Given the description of an element on the screen output the (x, y) to click on. 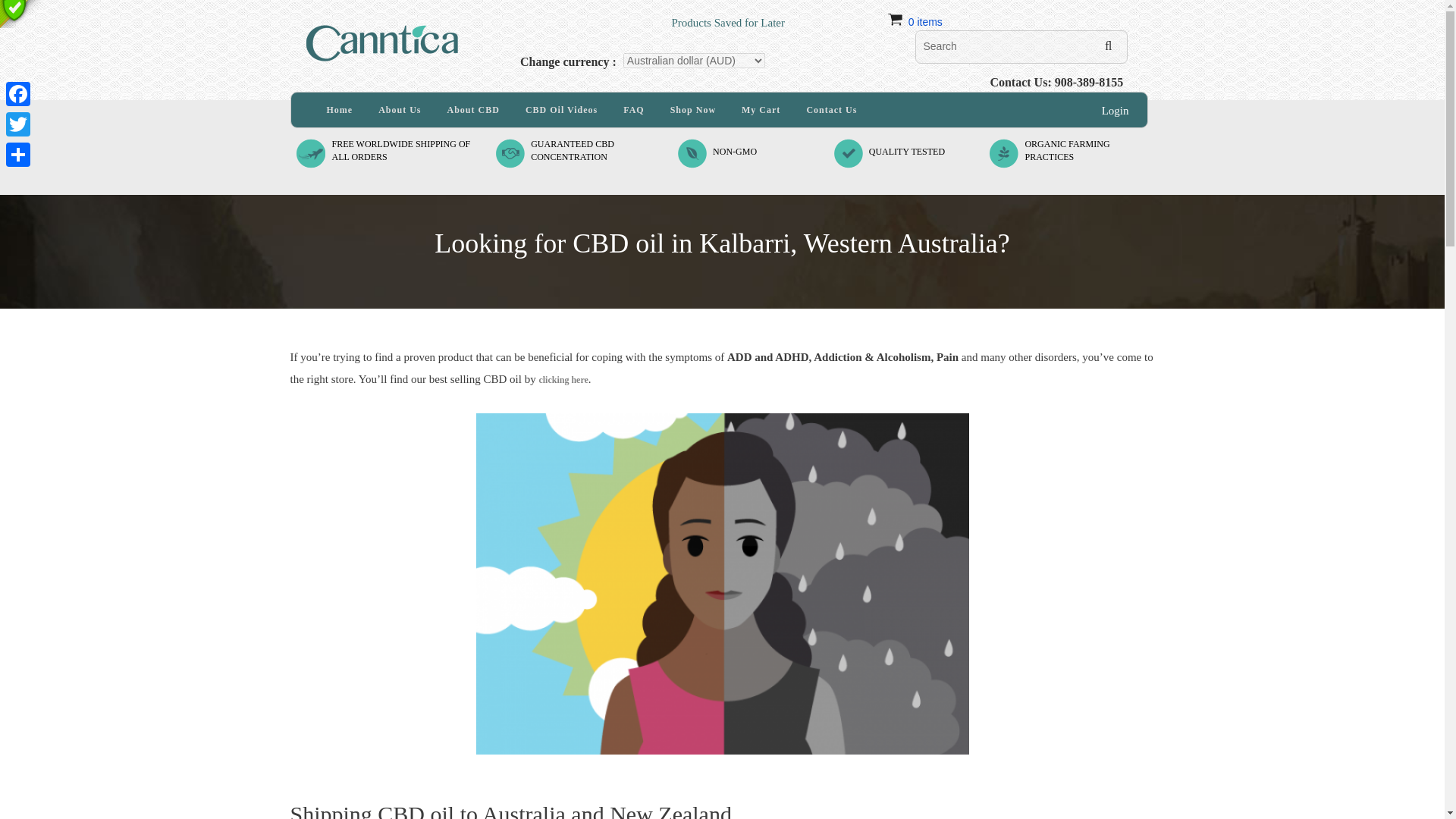
Twitter (17, 123)
Search for: (1020, 46)
CBD Oil Videos (561, 109)
Products Saved for Later (648, 14)
Shop Now (693, 109)
Home (340, 109)
FREE WORLDWIDE SHIPPING OF ALL ORDERS (400, 150)
Facebook (572, 150)
FAQ (17, 93)
